Given the description of an element on the screen output the (x, y) to click on. 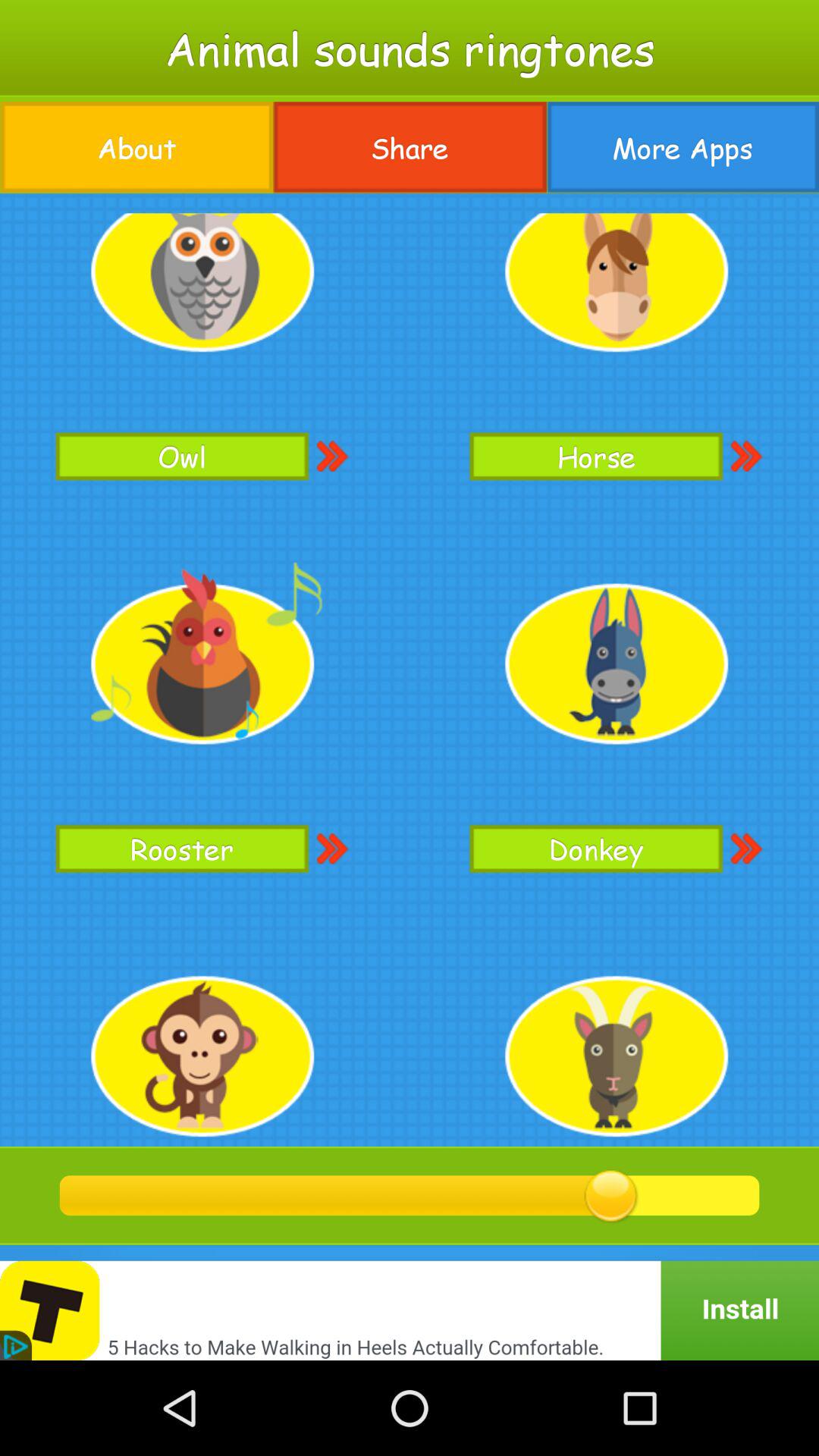
tap the about item (136, 147)
